Given the description of an element on the screen output the (x, y) to click on. 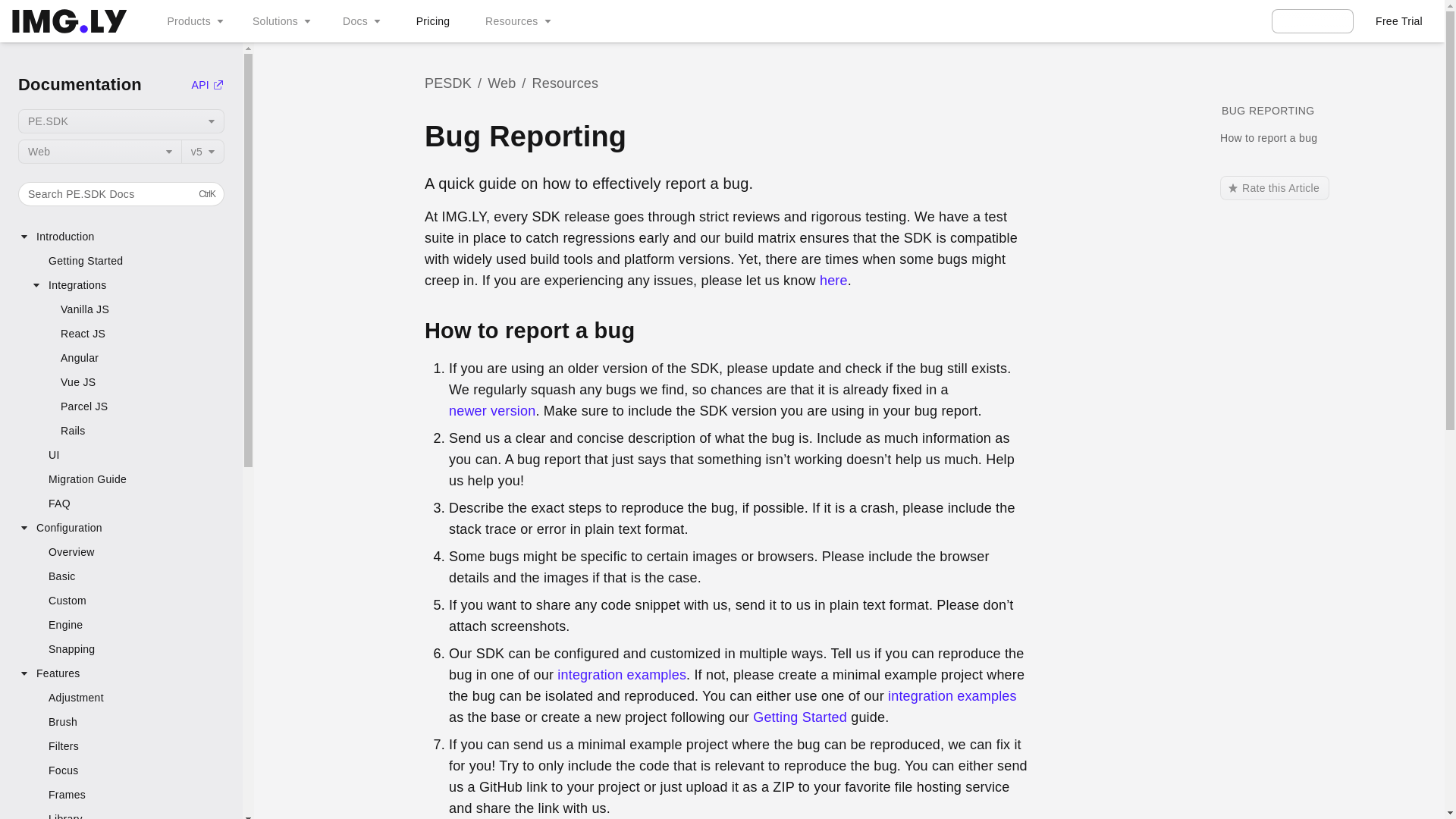
Angular (132, 357)
Docs (360, 21)
FAQ (120, 193)
Engine (126, 503)
Migration Guide (126, 624)
Resources (126, 478)
Parcel JS (516, 21)
PE.SDK (132, 405)
Solutions (120, 120)
Integrations (280, 21)
Configuration (126, 284)
Products (120, 527)
Brush (193, 21)
Basic (126, 721)
